Given the description of an element on the screen output the (x, y) to click on. 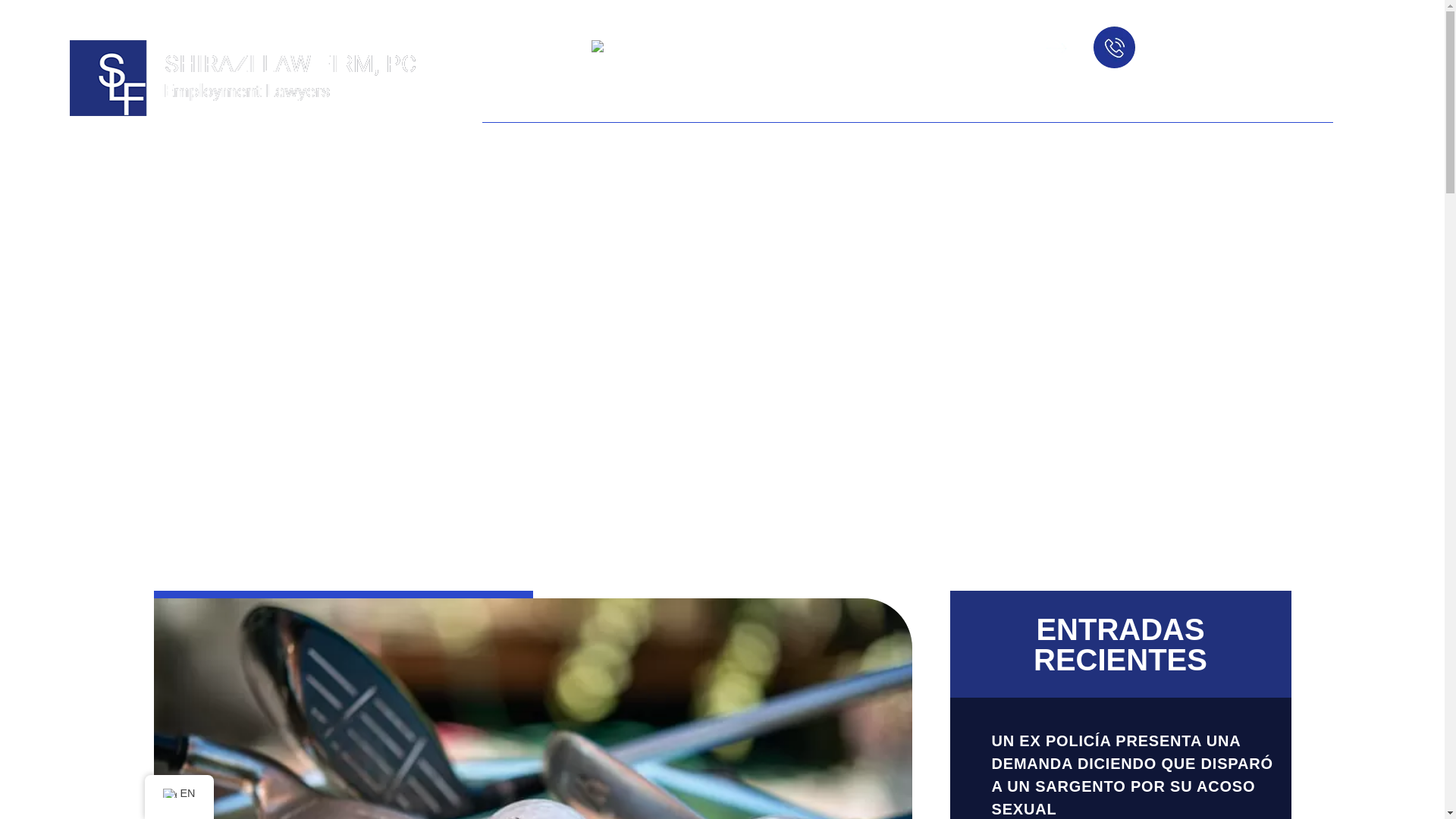
English (657, 47)
ABOGADO (591, 105)
INICIO (512, 105)
English (168, 792)
English (620, 48)
BLOG (828, 105)
RECURSOS (984, 105)
English (657, 47)
